Given the description of an element on the screen output the (x, y) to click on. 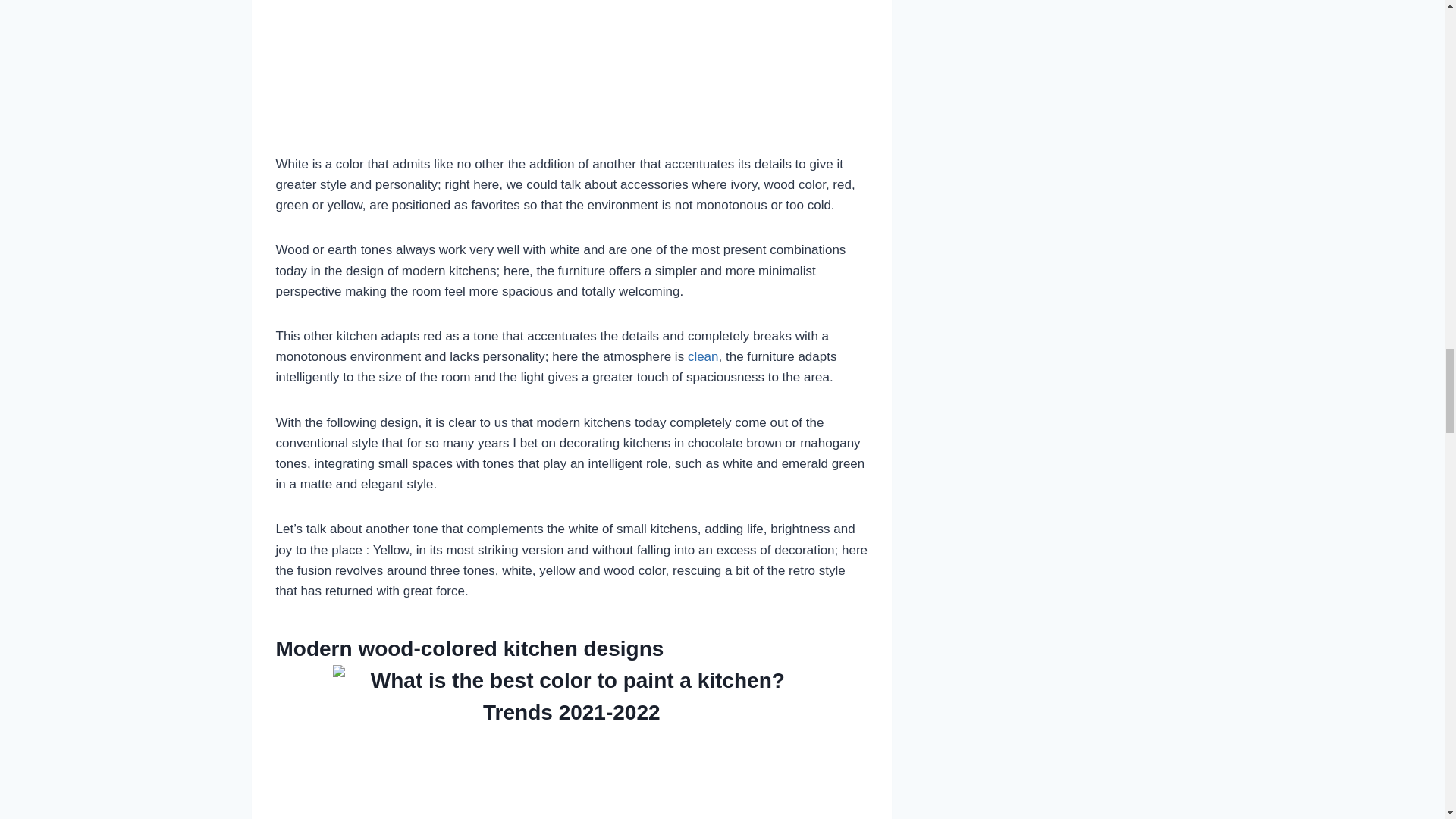
clean (703, 356)
